Given the description of an element on the screen output the (x, y) to click on. 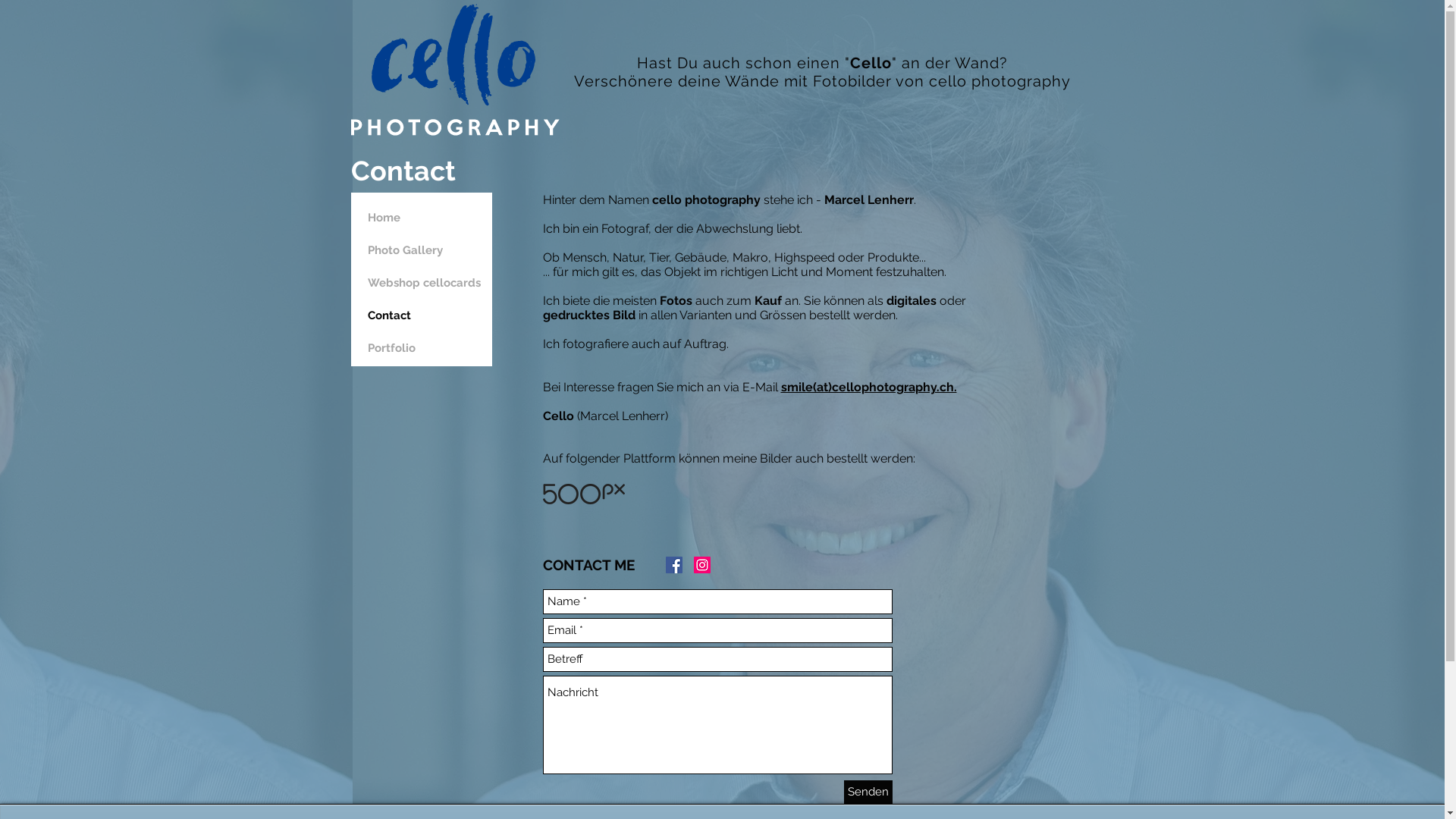
Portfolio Element type: text (423, 348)
Contact Element type: text (423, 315)
Cello_Logo_def_neg.png Element type: hover (454, 69)
Senden Element type: text (867, 791)
Webshop cellocards Element type: text (423, 282)
smile(at)cellophotography.ch. Element type: text (869, 386)
Home Element type: text (423, 217)
